Given the description of an element on the screen output the (x, y) to click on. 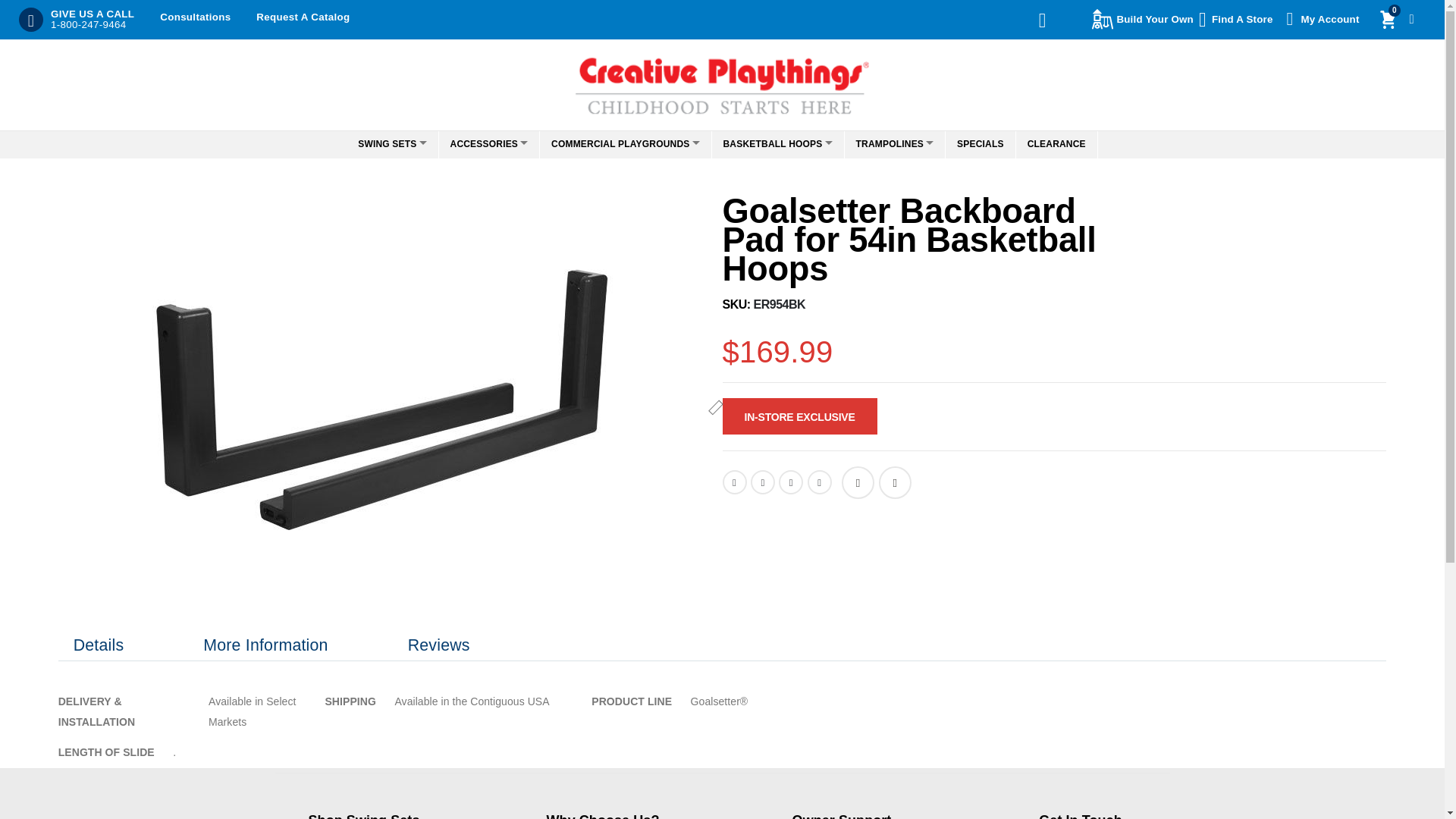
Find A Store (1238, 19)
3D Configurator (1143, 19)
My Account (1321, 19)
Consultations (1394, 19)
Creative Playthings (195, 17)
Build Your Own (721, 80)
Request A Catalog (1143, 19)
Find A Store (302, 17)
My Account (1238, 19)
